Given the description of an element on the screen output the (x, y) to click on. 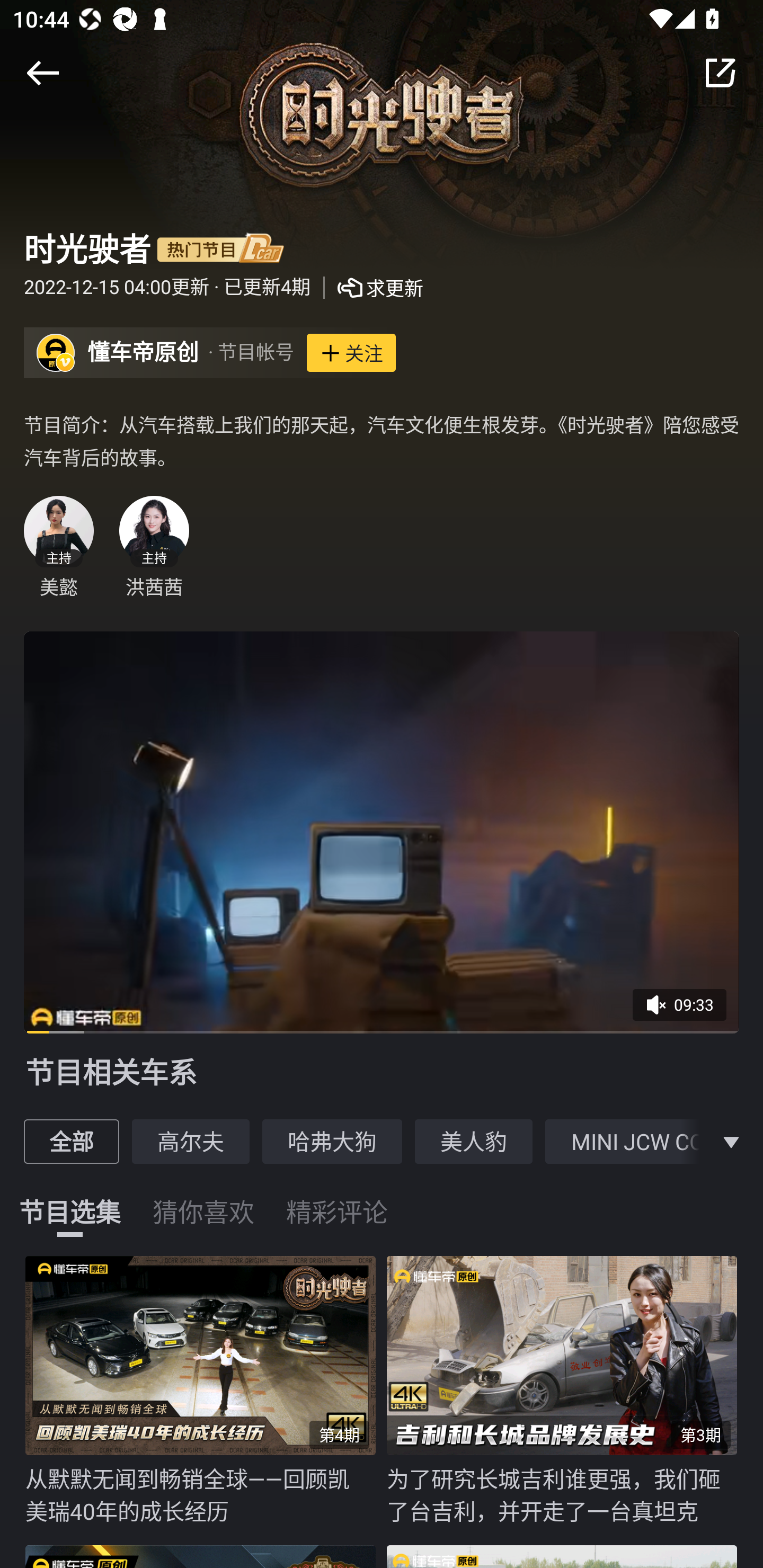
 (42, 72)
 (720, 72)
 求更新 (366, 287)
懂车帝原创 (142, 352)
· 节目帐号 (250, 352)
 关注 (350, 352)
主持 美懿 (58, 546)
主持 洪茜茜 (154, 546)
09:33 (685, 1011)
 (731, 1141)
全部 (71, 1141)
高尔夫 (190, 1141)
哈弗大狗 (332, 1141)
美人豹 (473, 1141)
节目选集 (69, 1200)
猜你喜欢 (203, 1200)
精彩评论 (336, 1200)
第4期 从默默无闻到畅销全球——回顾凯美瑞40年的成长经历 (205, 1390)
第3期 为了研究长城吉利谁更强，我们砸了台吉利，并开走了一台真坦克 (567, 1390)
